Given the description of an element on the screen output the (x, y) to click on. 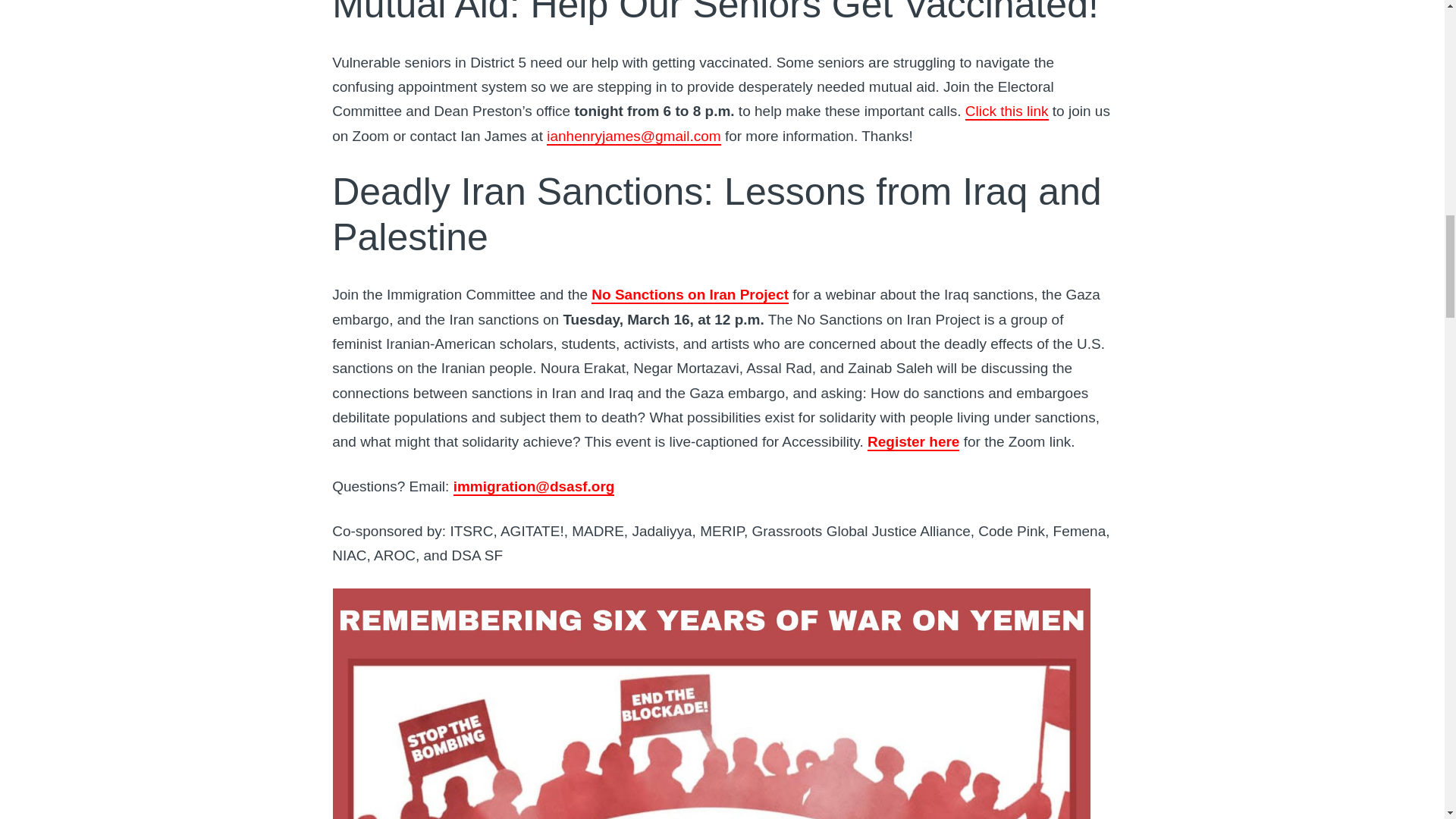
No Sanctions on Iran Project (690, 294)
Register here (913, 442)
Click this link (1006, 111)
